Given the description of an element on the screen output the (x, y) to click on. 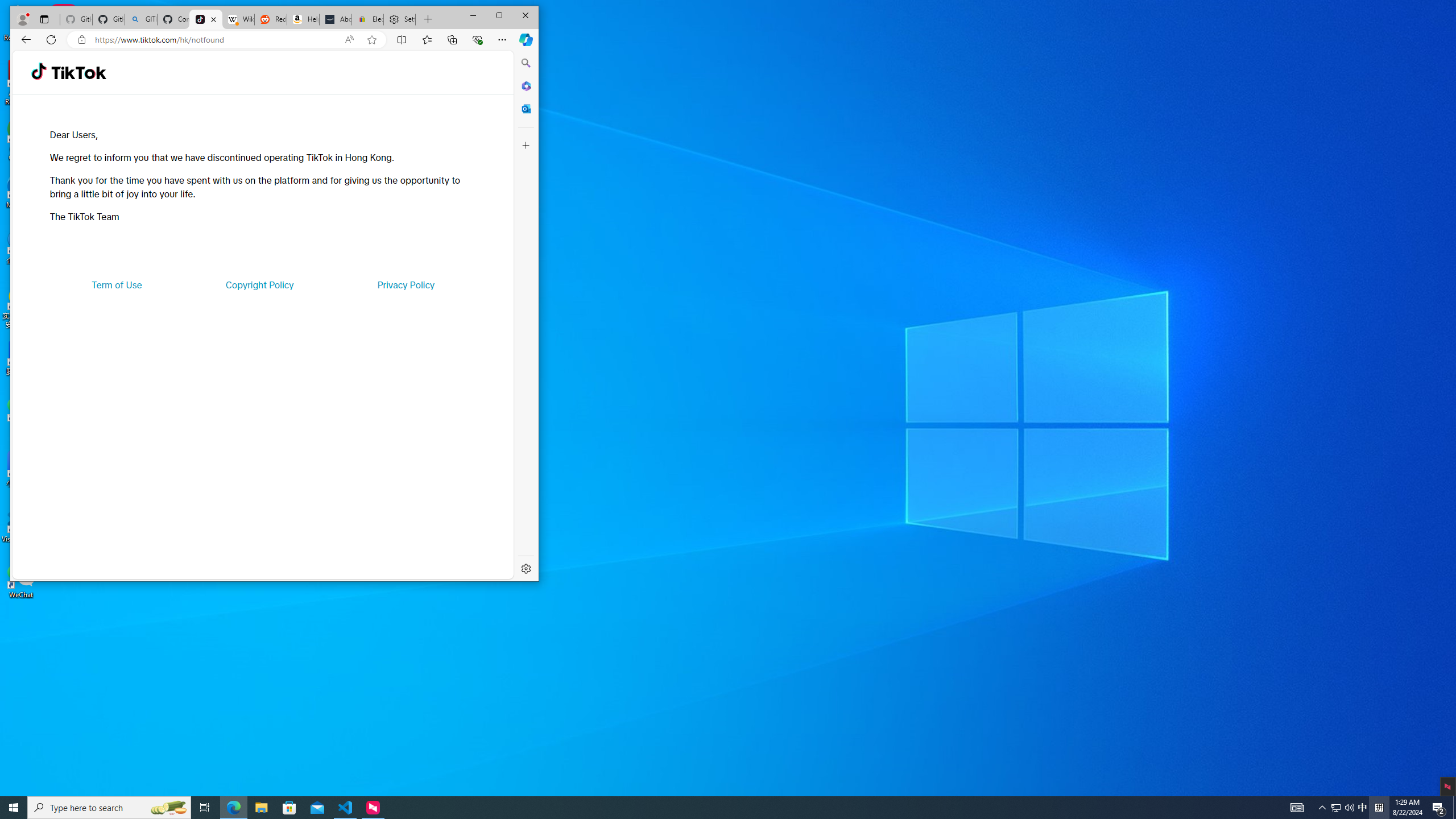
Task View (204, 807)
Show desktop (1454, 807)
User Promoted Notification Area (1342, 807)
Action Center, 2 new notifications (1439, 807)
